Given the description of an element on the screen output the (x, y) to click on. 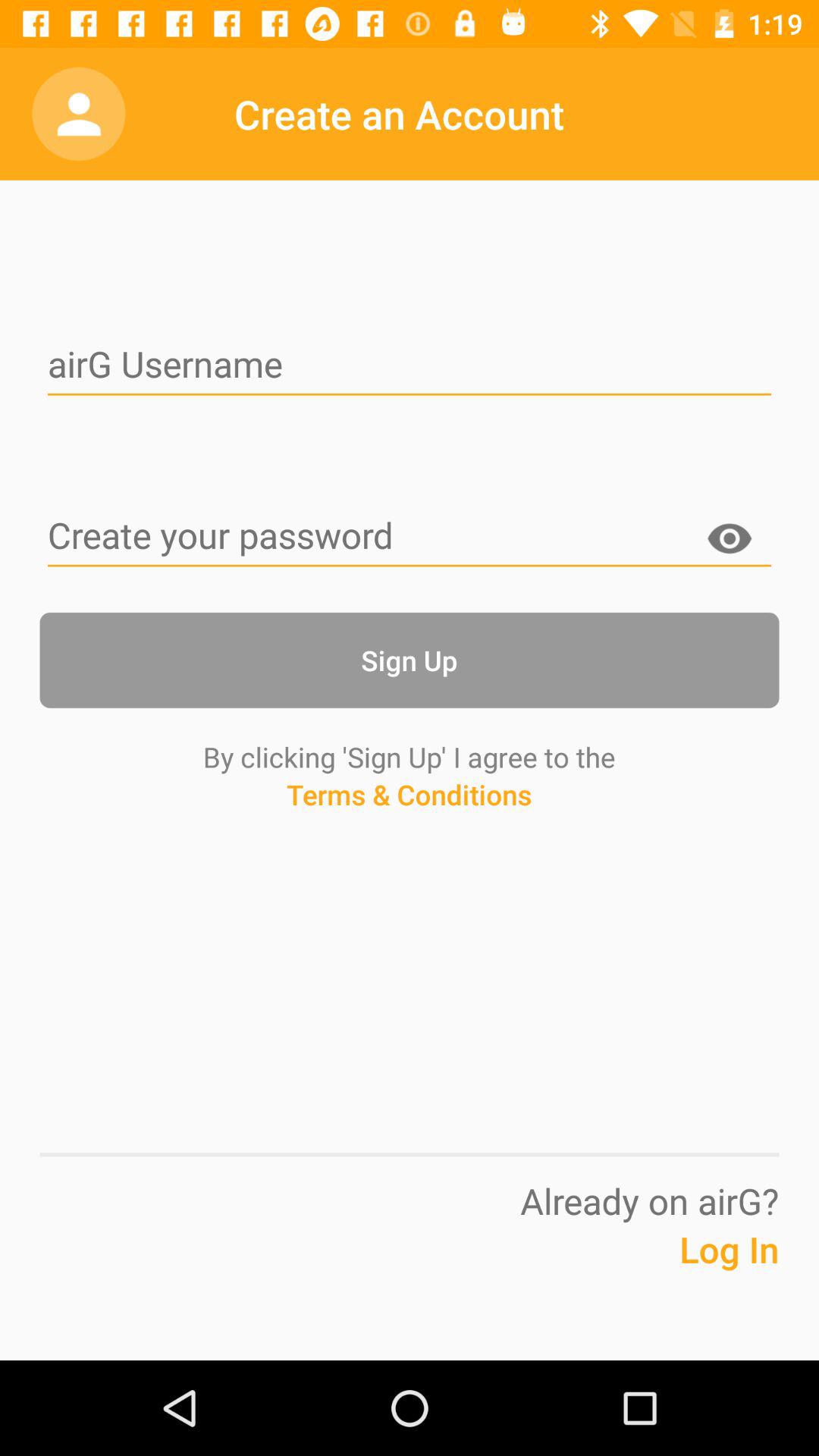
enter password (409, 537)
